Given the description of an element on the screen output the (x, y) to click on. 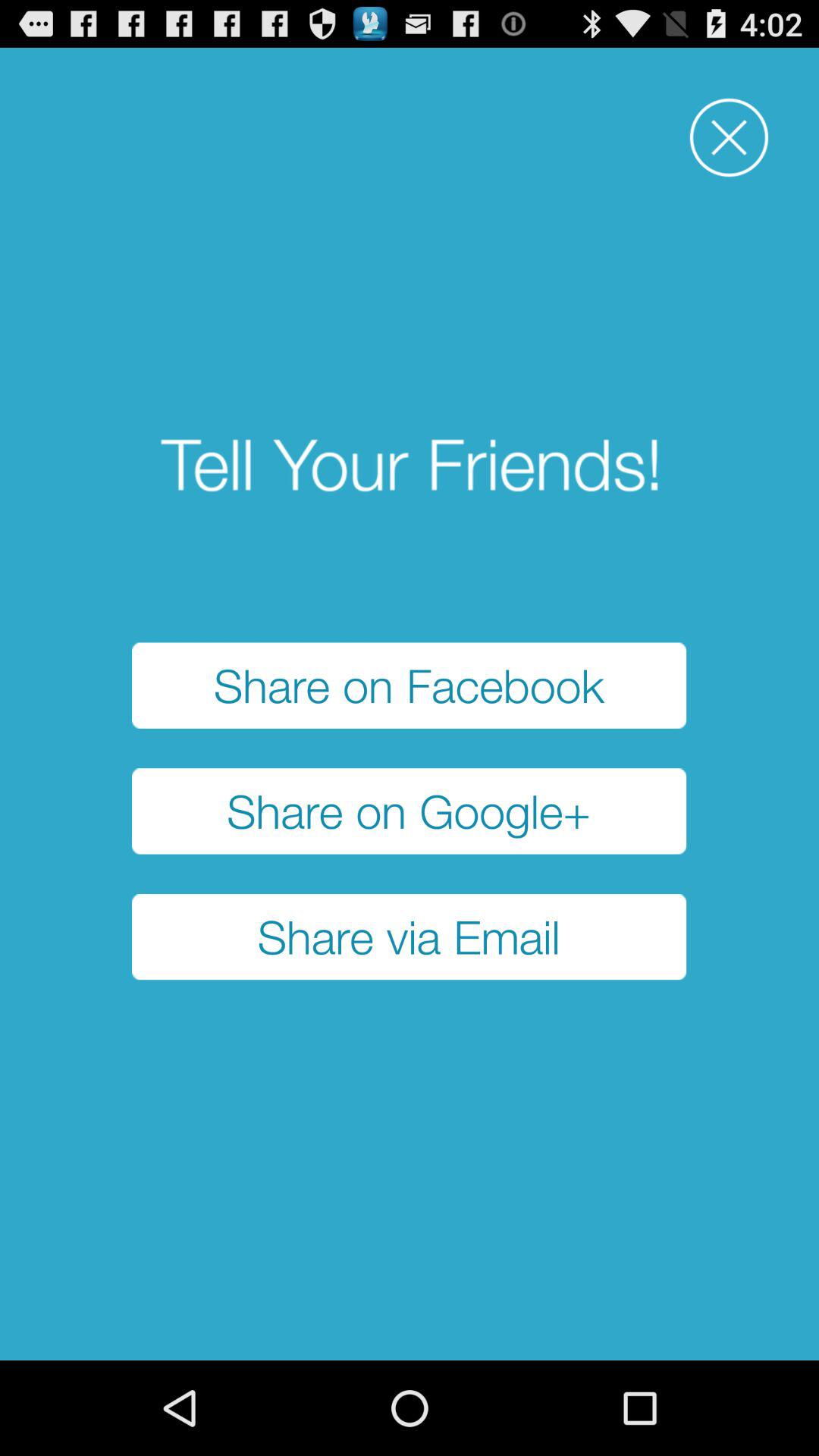
turn on item above share on facebook button (728, 137)
